Given the description of an element on the screen output the (x, y) to click on. 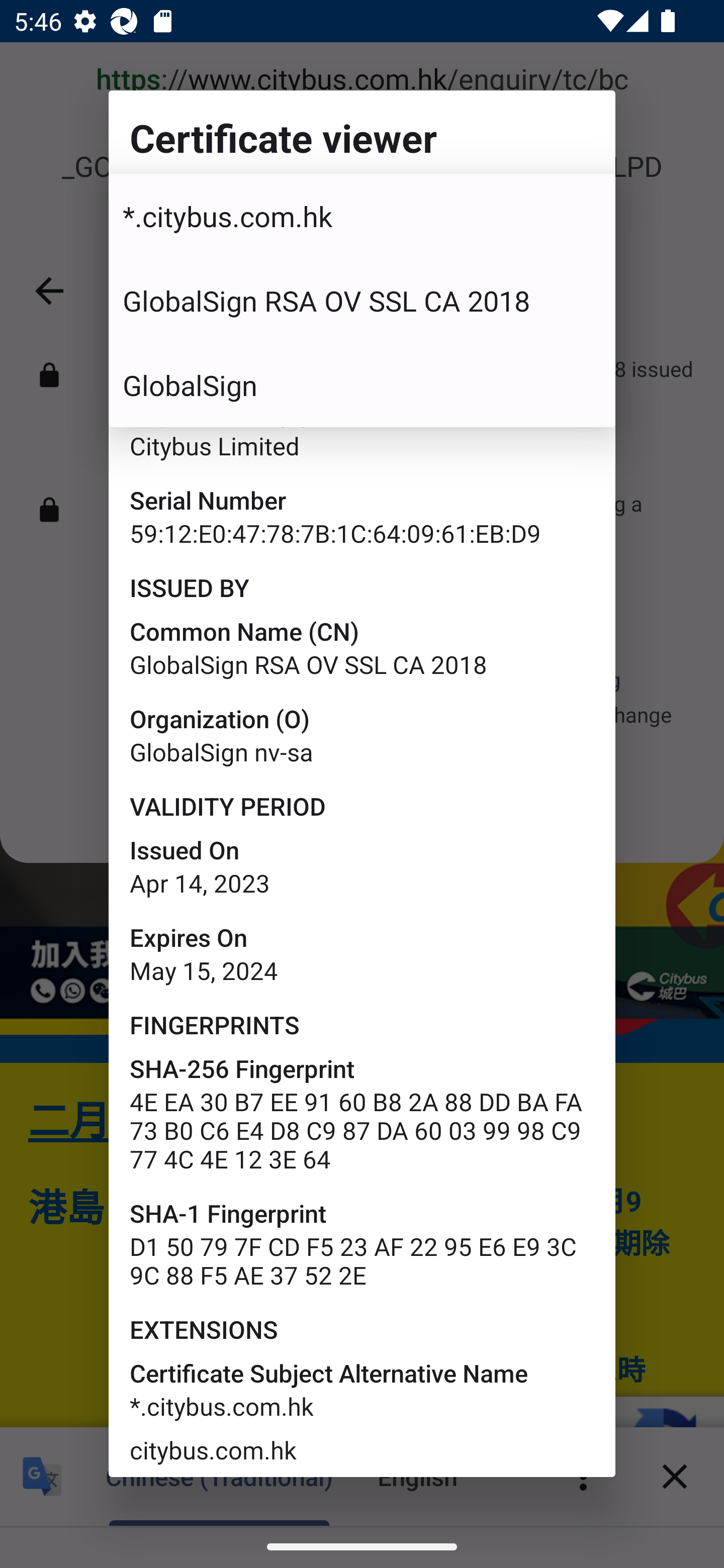
*.citybus.com.hk (361, 216)
GlobalSign RSA OV SSL CA 2018 (361, 300)
GlobalSign (361, 384)
